Given the description of an element on the screen output the (x, y) to click on. 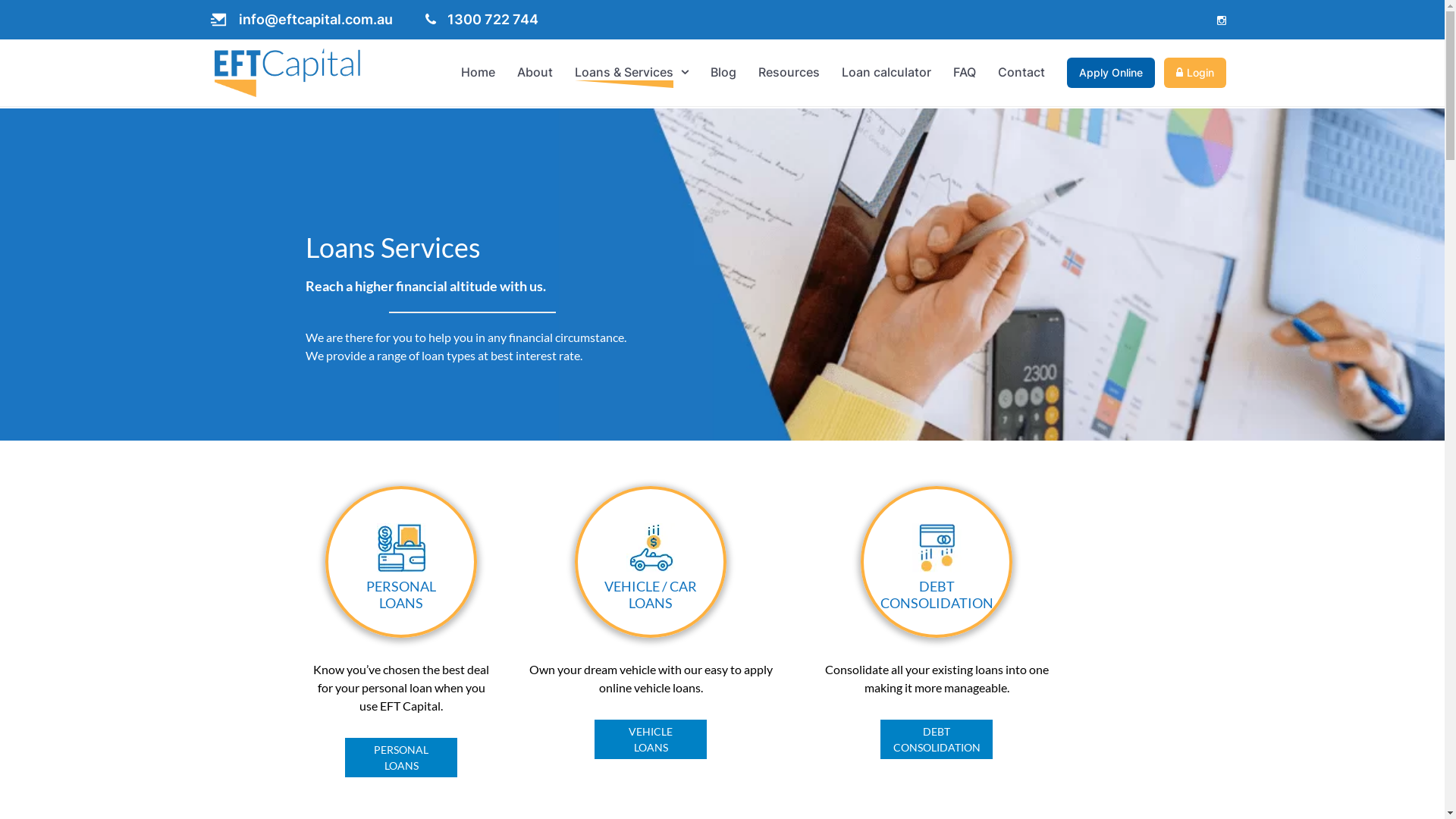
VEHICLE / CAR
LOANS Element type: text (650, 592)
info@eftcapital.com.au Element type: text (301, 19)
DEBT CONSOLIDATION Element type: text (935, 592)
Loan calculator Element type: text (886, 71)
Home Element type: text (478, 71)
Resources Element type: text (788, 71)
PERSONAL
LOANS Element type: text (401, 592)
About Element type: text (534, 71)
Apply Online Element type: text (1110, 72)
VEHICLE
LOANS Element type: text (650, 739)
EFT Capital Element type: hover (287, 72)
Login Element type: text (1195, 72)
PERSONAL LOANS Element type: text (401, 757)
DEBT CONSOLIDATION Element type: text (936, 739)
Blog Element type: text (723, 71)
FAQ Element type: text (964, 71)
Loans & Services Element type: text (623, 71)
Contact Element type: text (1020, 71)
1300 722 744 Element type: text (480, 19)
